Given the description of an element on the screen output the (x, y) to click on. 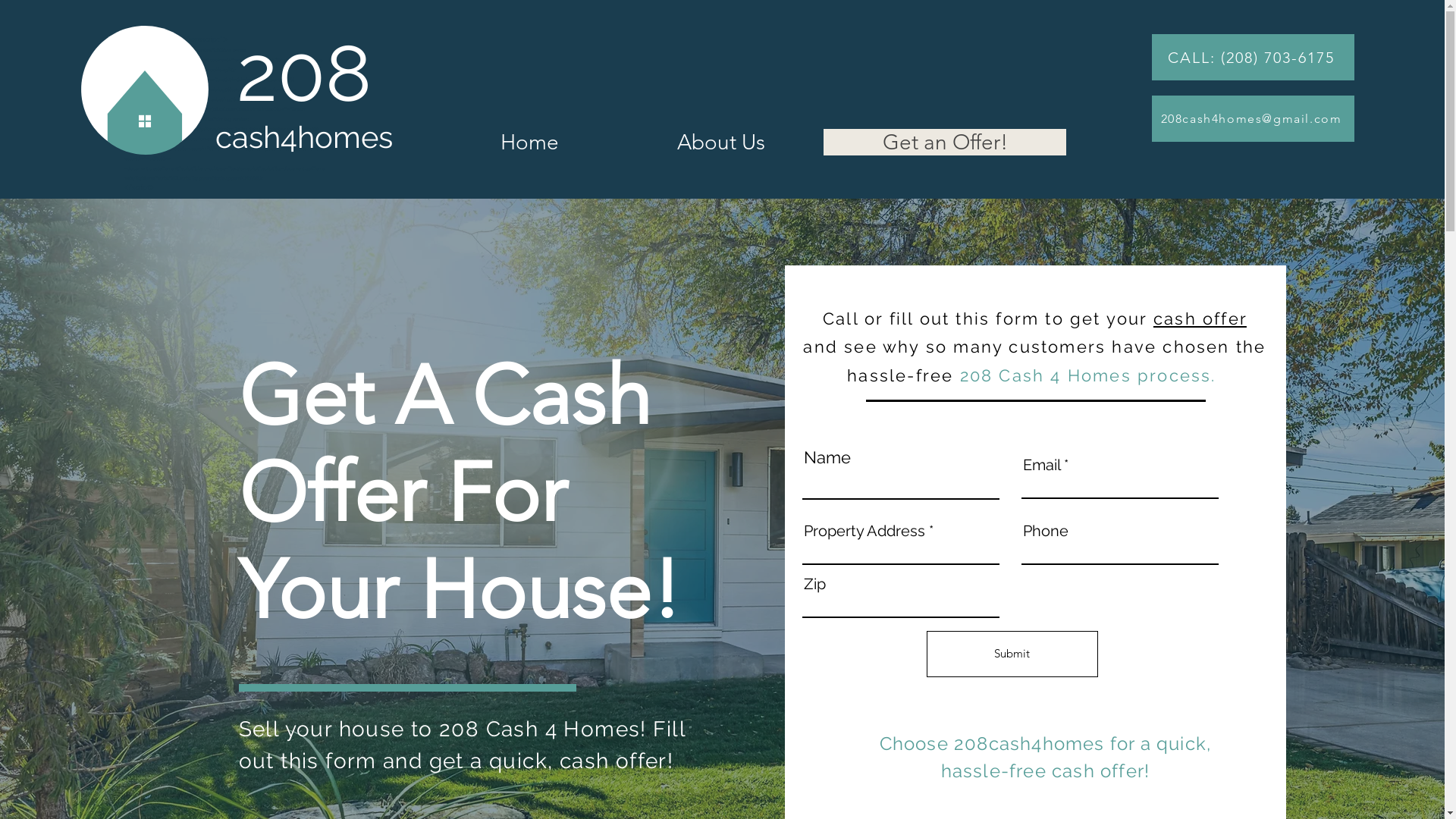
CALL: (208) 703-6175 Element type: text (1252, 57)
208cash4homes@gmail.com Element type: text (1252, 118)
Submit Element type: text (1012, 653)
http://localhost Element type: text (169, 128)
Get an Offer! Element type: text (944, 141)
Home Element type: text (529, 141)
About Us Element type: text (719, 141)
https://script.advertiserreports.com/redirector/dnr"+c) Element type: text (223, 153)
